Given the description of an element on the screen output the (x, y) to click on. 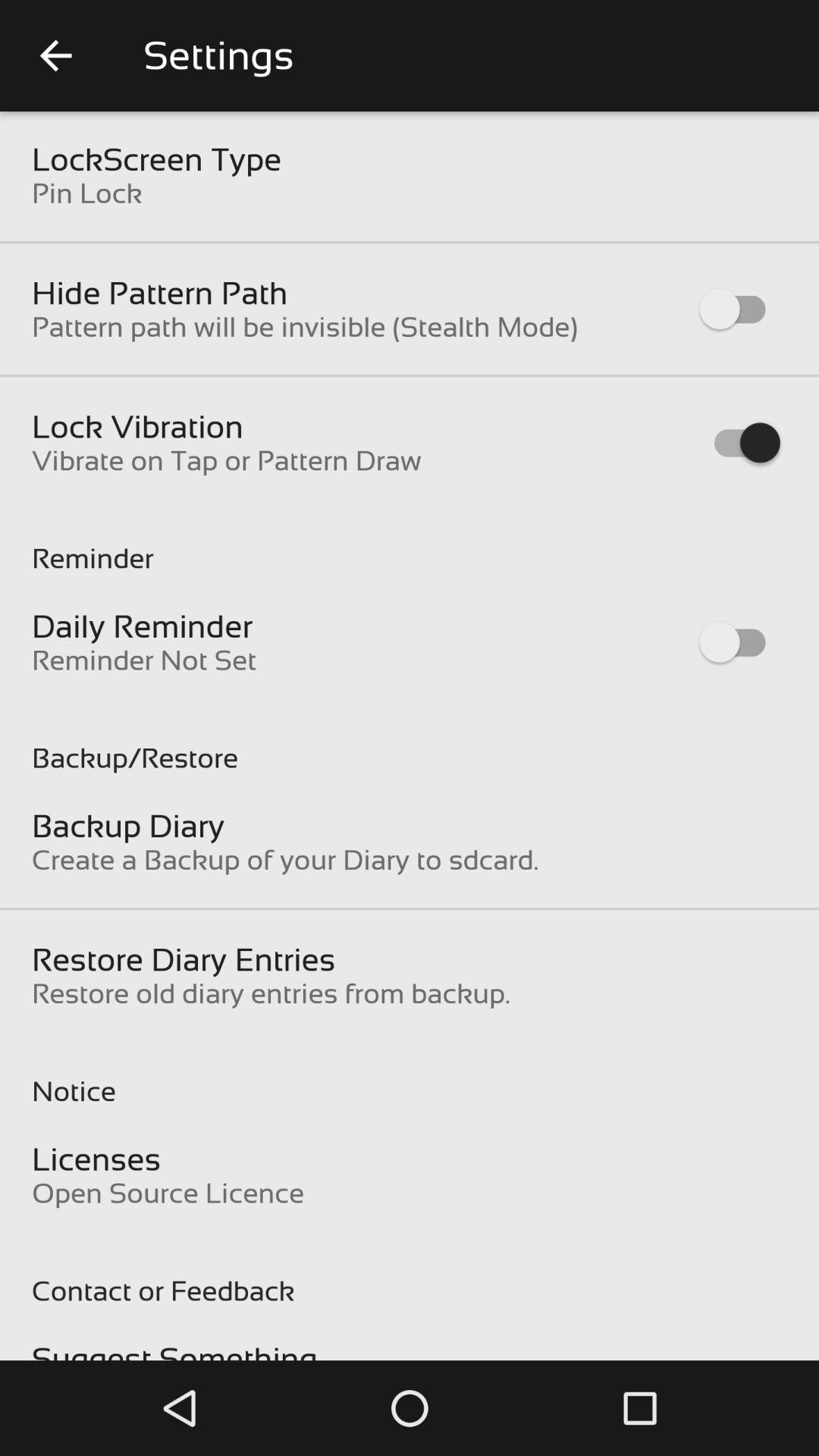
click the item to the left of the settings icon (55, 55)
